Given the description of an element on the screen output the (x, y) to click on. 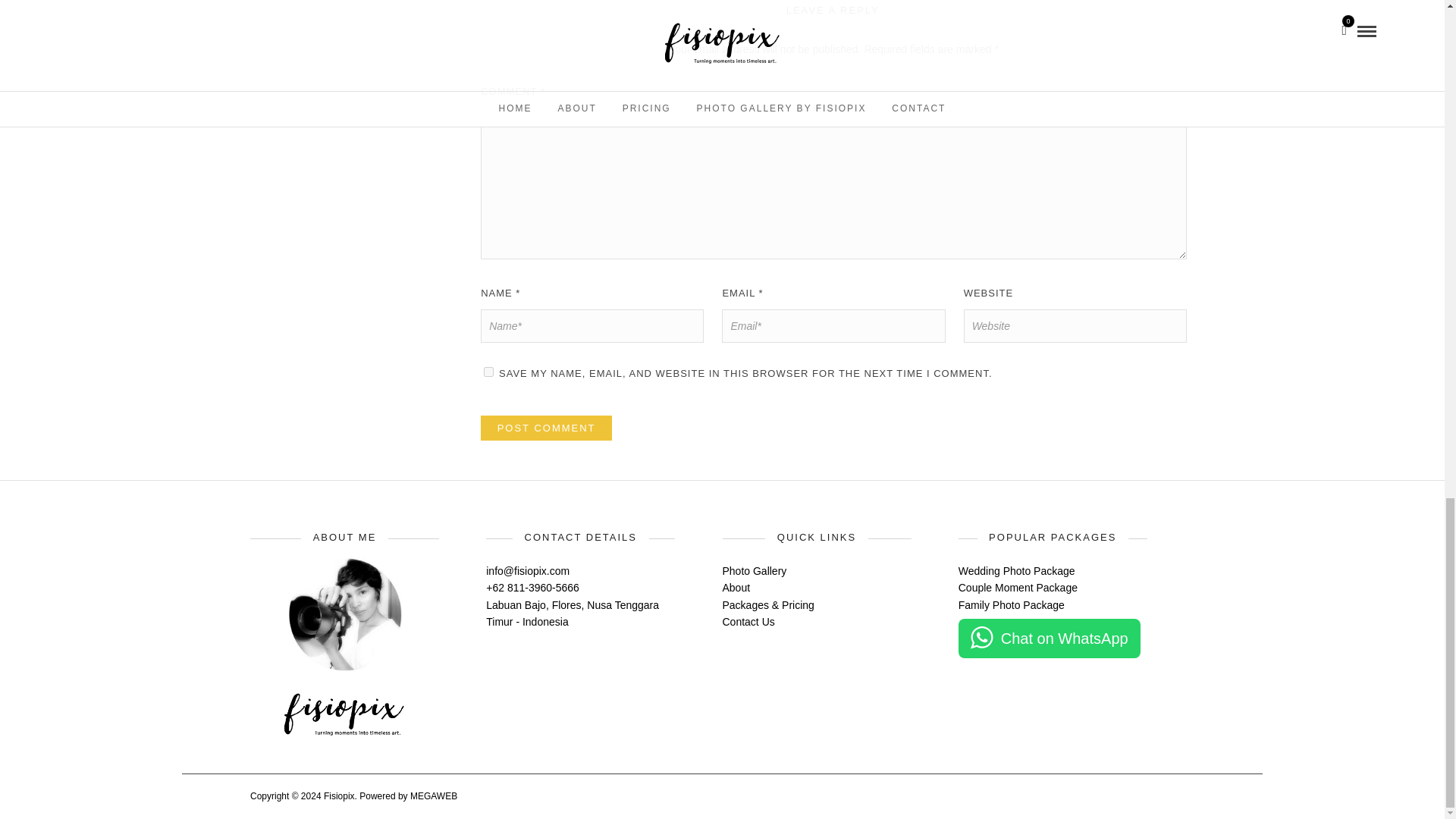
POPULAR PACKAGES (1052, 537)
Post Comment (545, 428)
Contact Us (748, 621)
Post Comment (545, 428)
Family Photo Package (1011, 604)
MEGAWEB (433, 796)
Photo Gallery (754, 571)
yes (488, 371)
Wedding Photo Package (1016, 571)
Chat on WhatsApp (1049, 638)
Couple Moment Package (1017, 587)
About (735, 587)
